Given the description of an element on the screen output the (x, y) to click on. 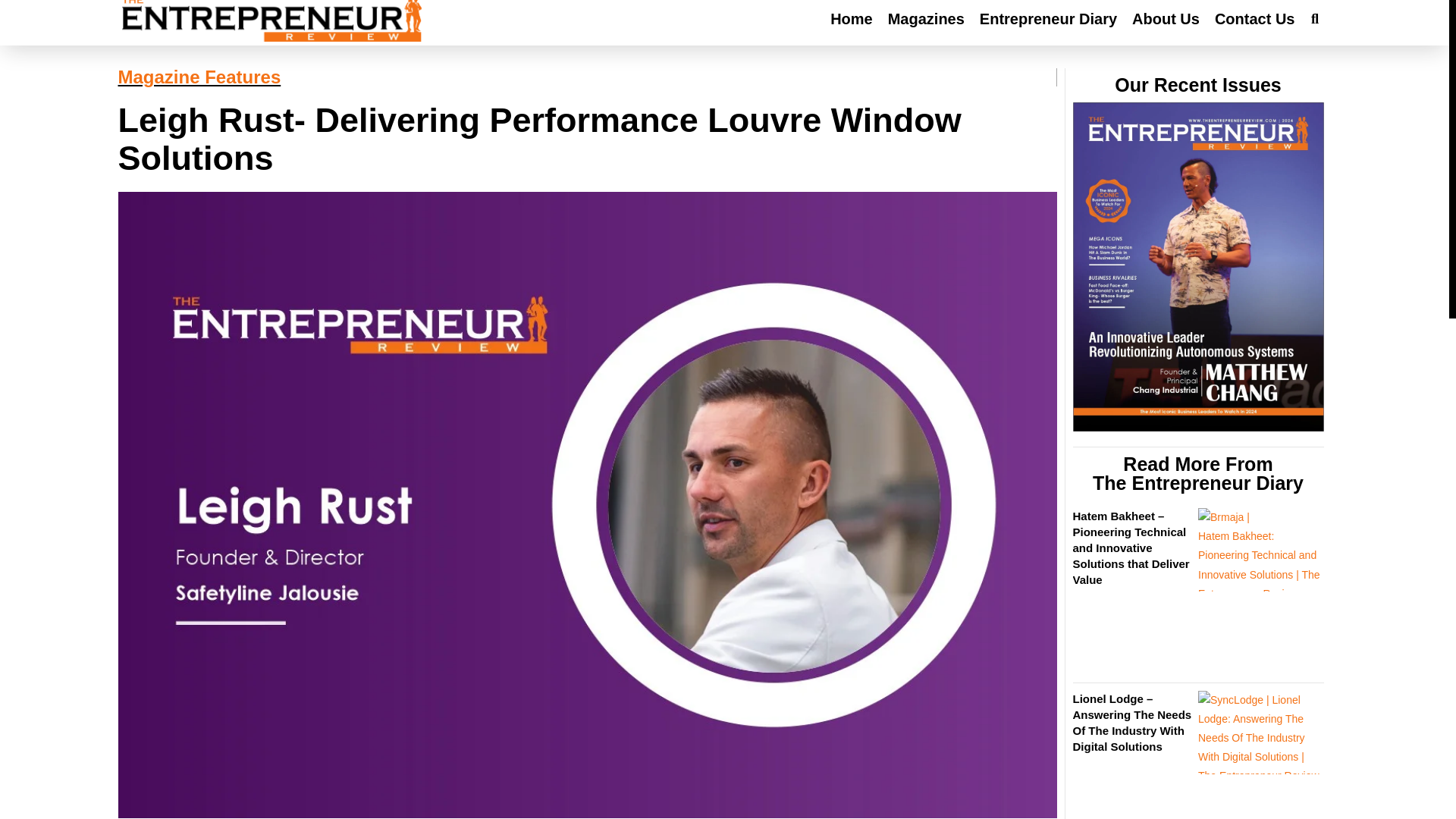
About Us (1165, 18)
Home (850, 18)
Magazines (925, 18)
Magazine Features (199, 76)
Contact Us (1254, 18)
Entrepreneur Diary (1047, 18)
